Given the description of an element on the screen output the (x, y) to click on. 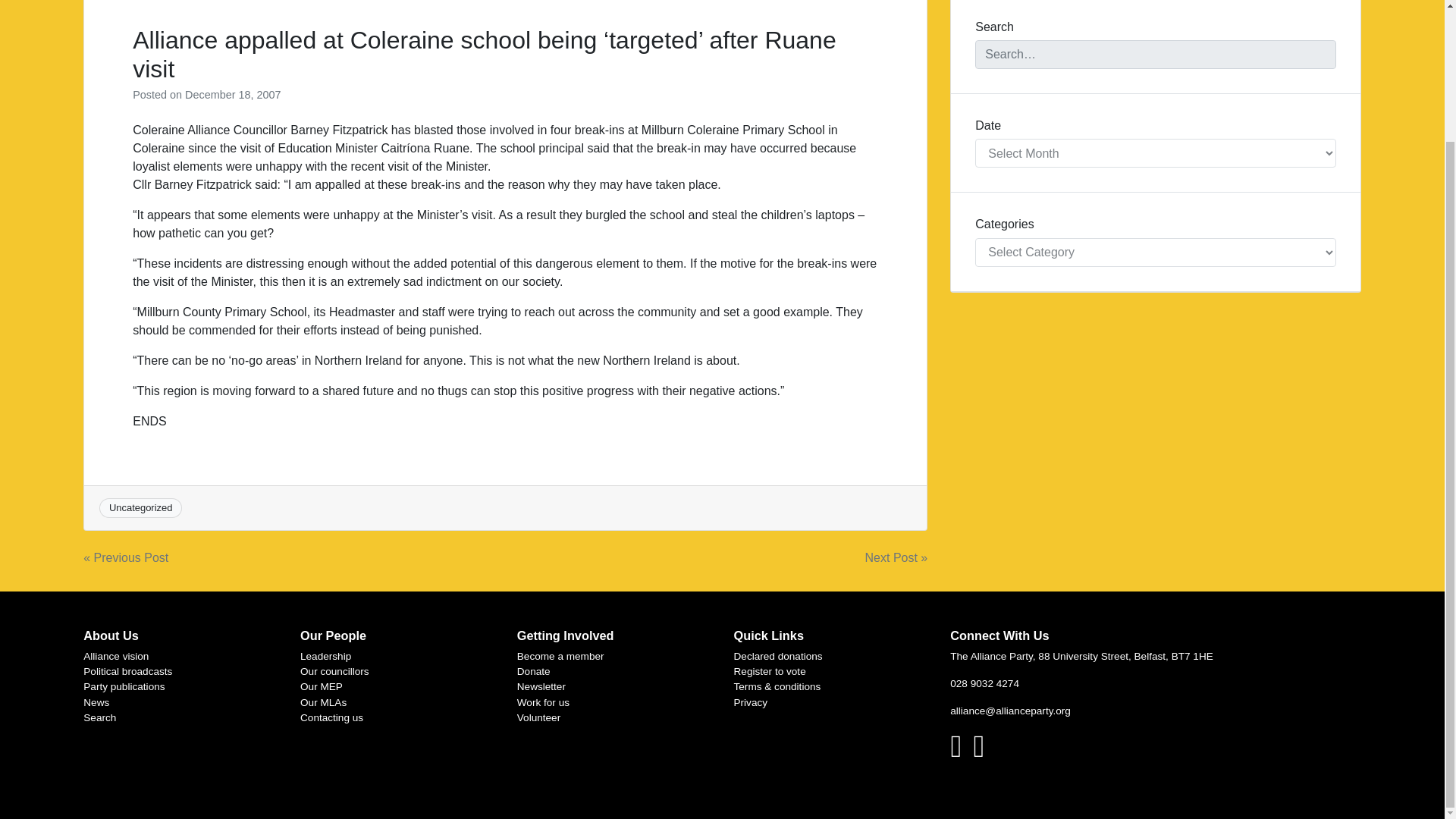
Political broadcasts (126, 671)
028 9032 4274 (984, 683)
Alliance vision (115, 655)
Our MEP (320, 686)
Work for us (542, 702)
Become a member (560, 655)
Donate (533, 671)
Party publications (123, 686)
Volunteer (538, 717)
Privacy (750, 702)
Contacting us (330, 717)
Newsletter (541, 686)
Register to vote (769, 671)
News (95, 702)
Search (99, 717)
